Given the description of an element on the screen output the (x, y) to click on. 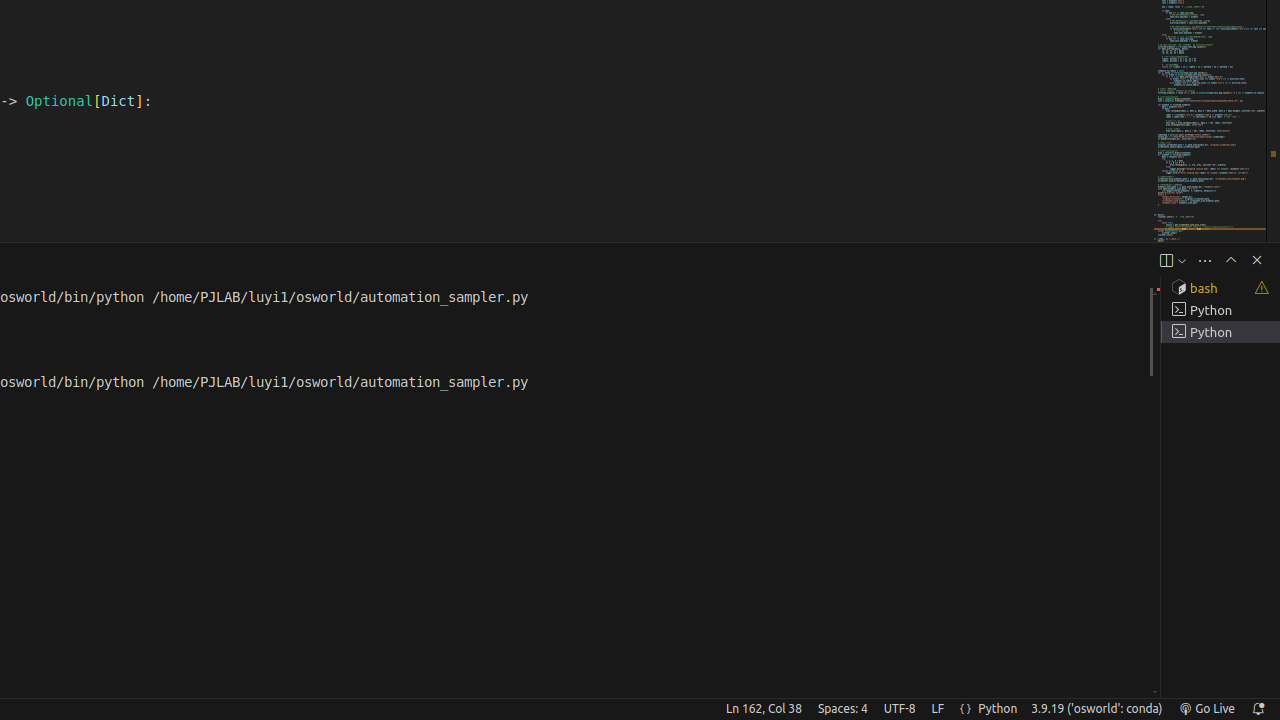
Maximize Panel Size Element type: check-box (1231, 260)
Python Element type: push-button (998, 709)
Views and More Actions... Element type: push-button (1205, 260)
Terminal 1 bash Element type: list-item (1220, 288)
UTF-8 Element type: push-button (899, 709)
